Given the description of an element on the screen output the (x, y) to click on. 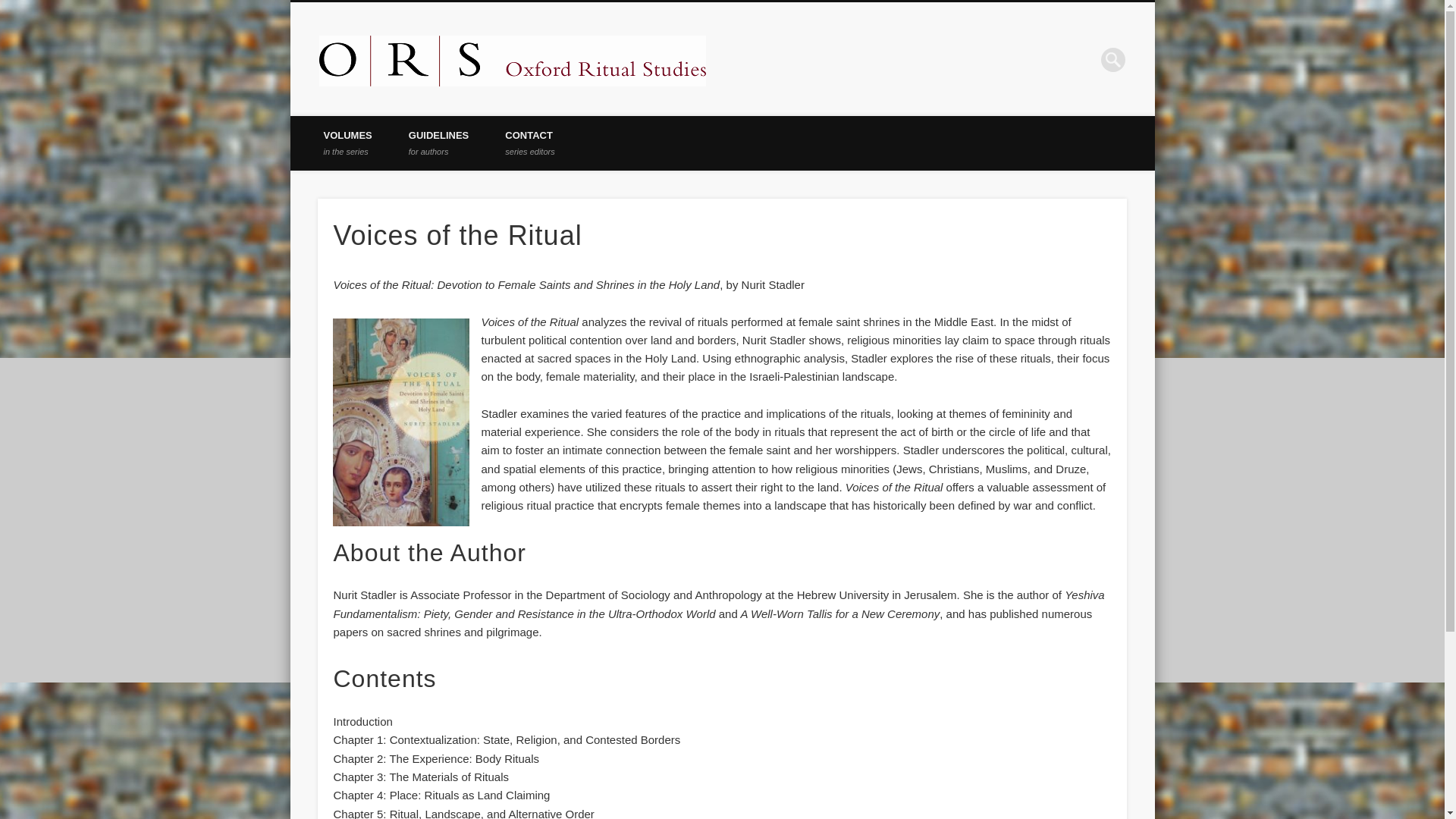
Oxford Ritual Studies Series (529, 143)
Search (438, 143)
